Given the description of an element on the screen output the (x, y) to click on. 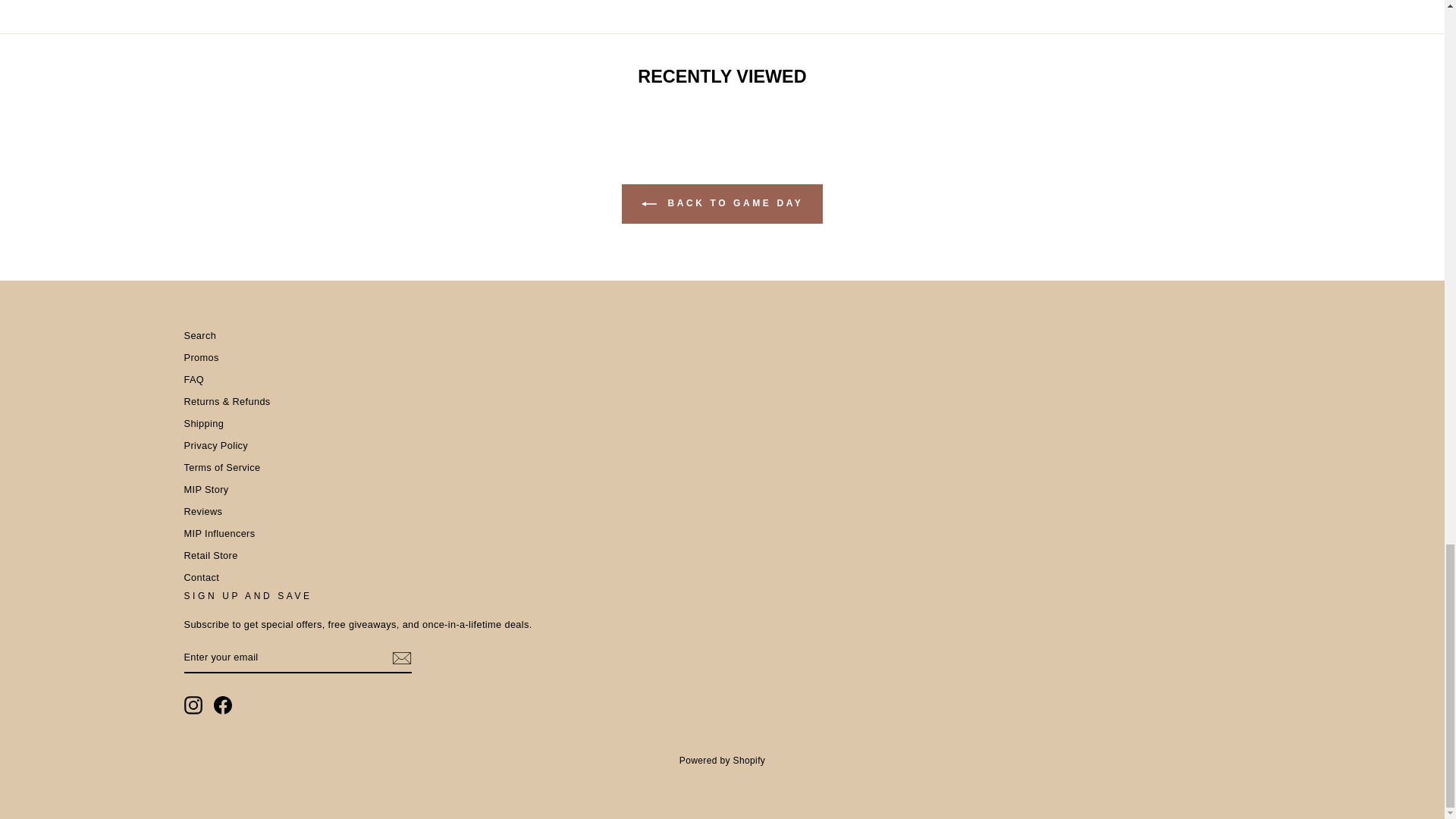
Make it Personal MM on Facebook (222, 705)
Make it Personal MM on Instagram (192, 705)
